Given the description of an element on the screen output the (x, y) to click on. 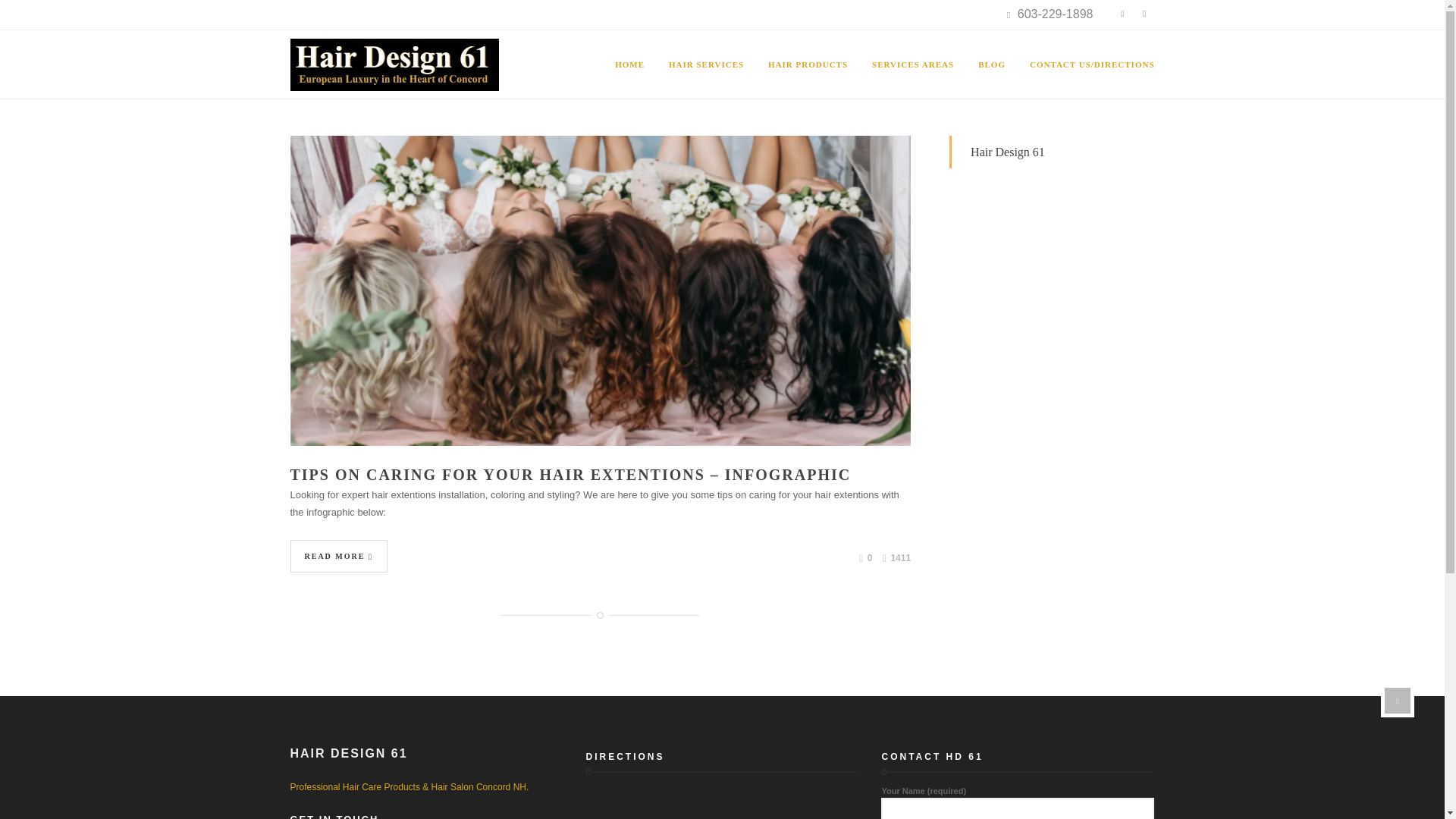
Love this (865, 557)
HAIR PRODUCTS (807, 64)
Post Views (896, 558)
Hair Design 61 (393, 63)
Hair Design 61 (1008, 151)
READ MORE (338, 555)
HAIR SERVICES (706, 64)
0 (865, 557)
SERVICES AREAS (912, 64)
